Given the description of an element on the screen output the (x, y) to click on. 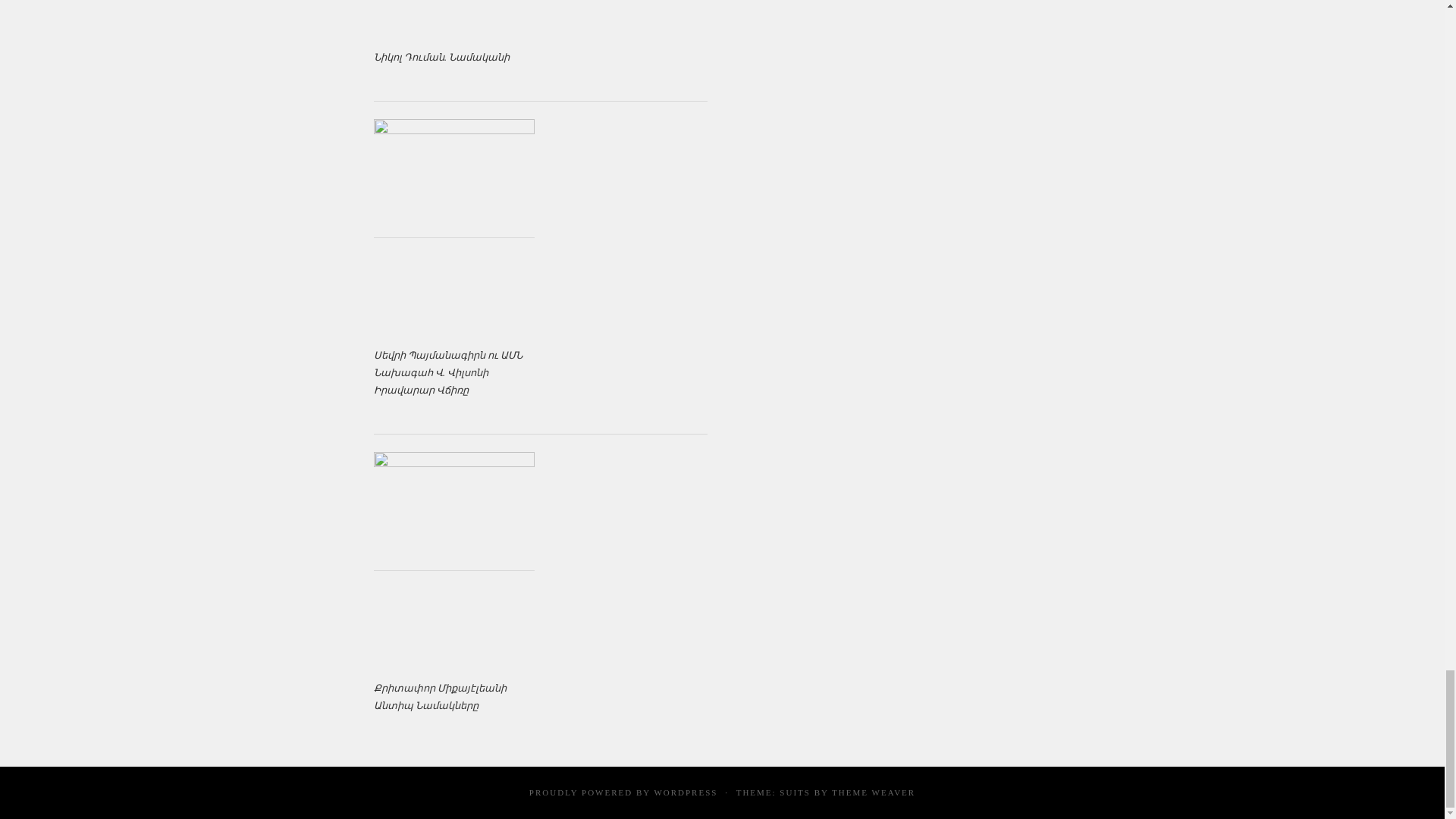
Theme Developer (873, 791)
Semantic Personal Publishing Platform (685, 791)
